Given the description of an element on the screen output the (x, y) to click on. 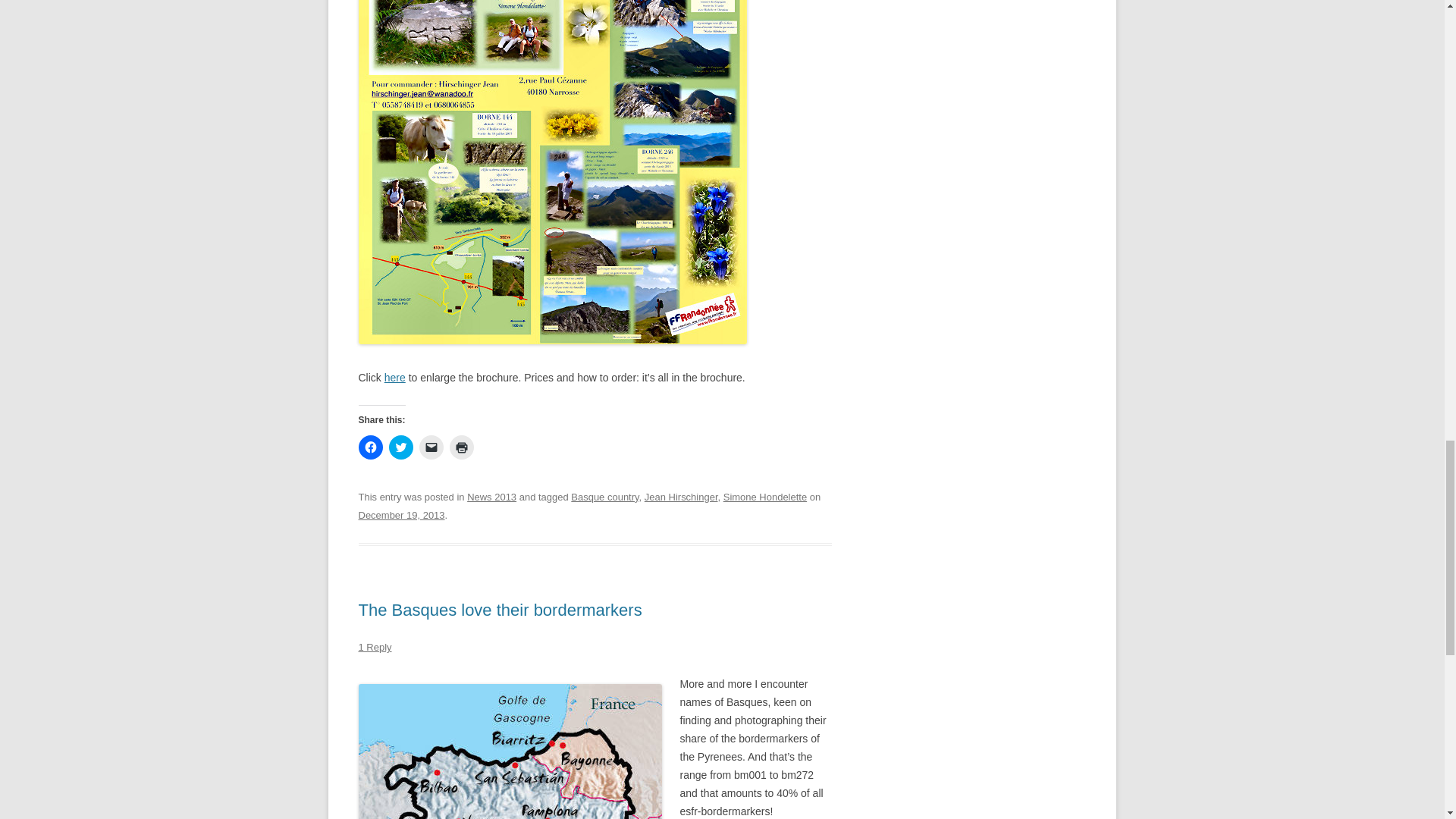
Click to email a link to a friend (430, 446)
Simone Hondelette (764, 496)
The Basques love their bordermarkers (500, 609)
1 Reply (374, 646)
Basque country (604, 496)
here (395, 377)
Click to print (460, 446)
December 19, 2013 (401, 514)
13:10 (401, 514)
